Given the description of an element on the screen output the (x, y) to click on. 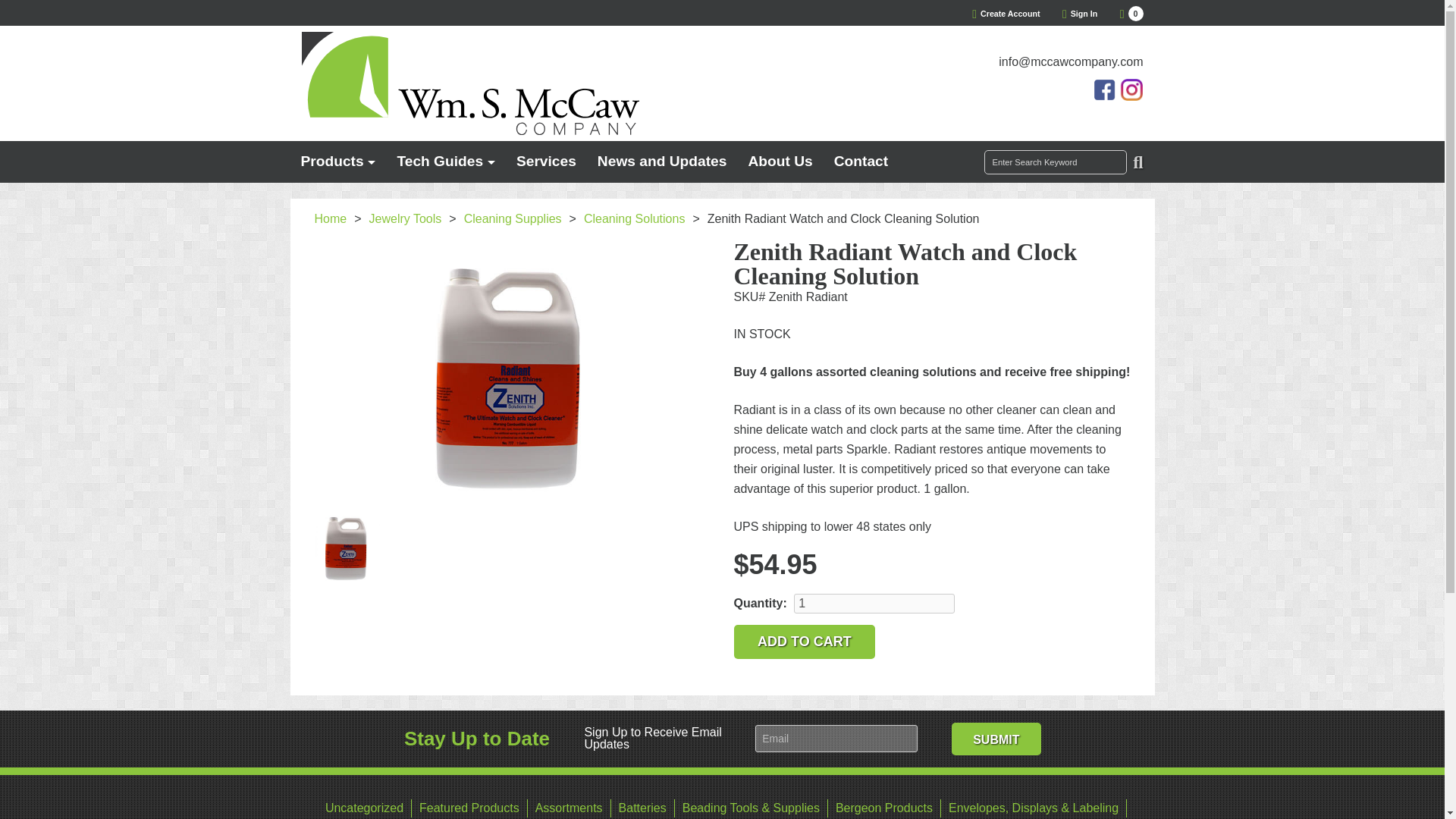
1 (874, 603)
Find Us On Facebook (1105, 89)
Qty (874, 603)
Submit (996, 738)
Products (1130, 13)
View Our Instagram Photos (337, 161)
Create Account (1130, 89)
Create Account (1005, 13)
Sign In (1005, 13)
